Given the description of an element on the screen output the (x, y) to click on. 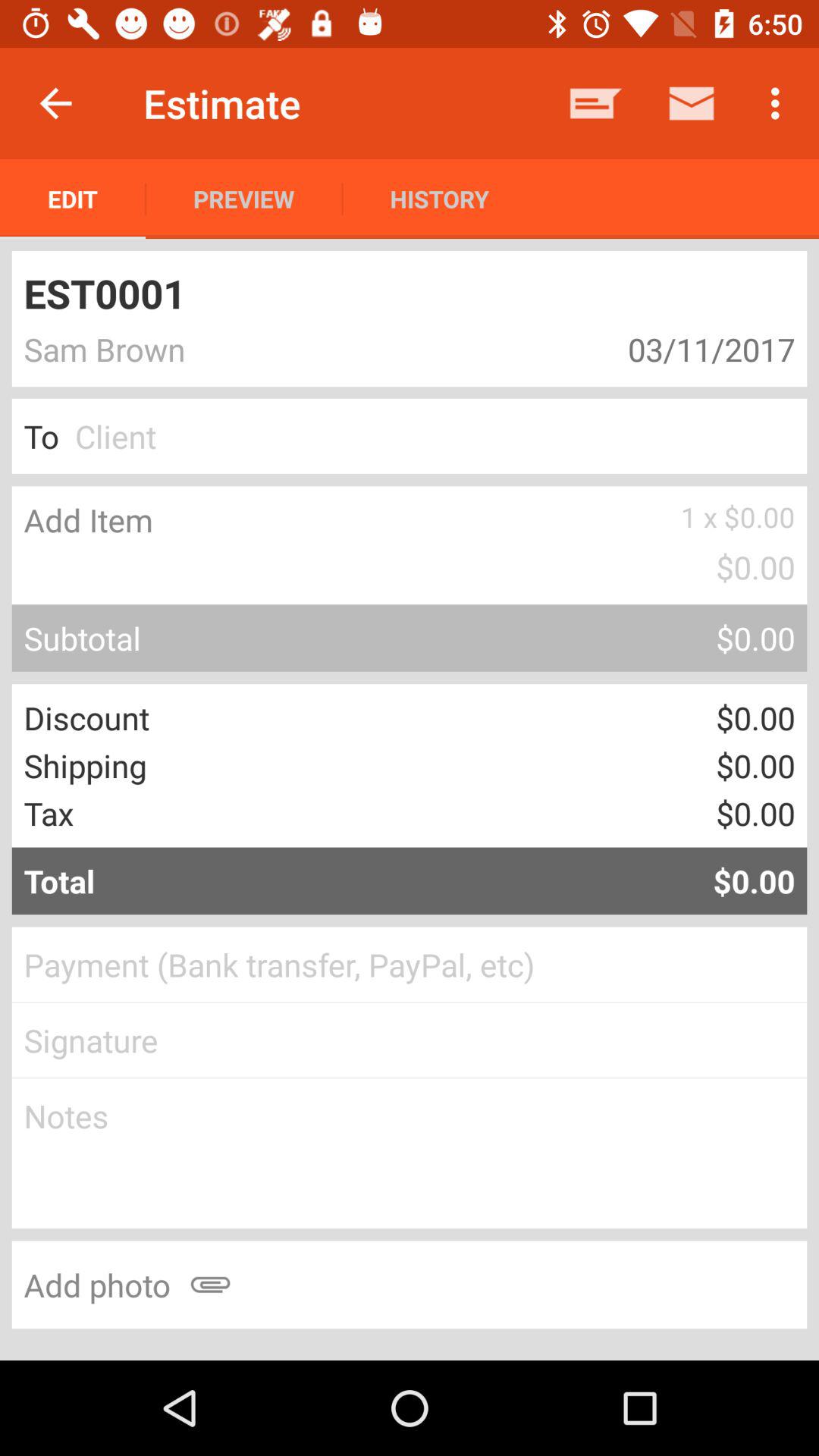
a place for notes (409, 1153)
